Given the description of an element on the screen output the (x, y) to click on. 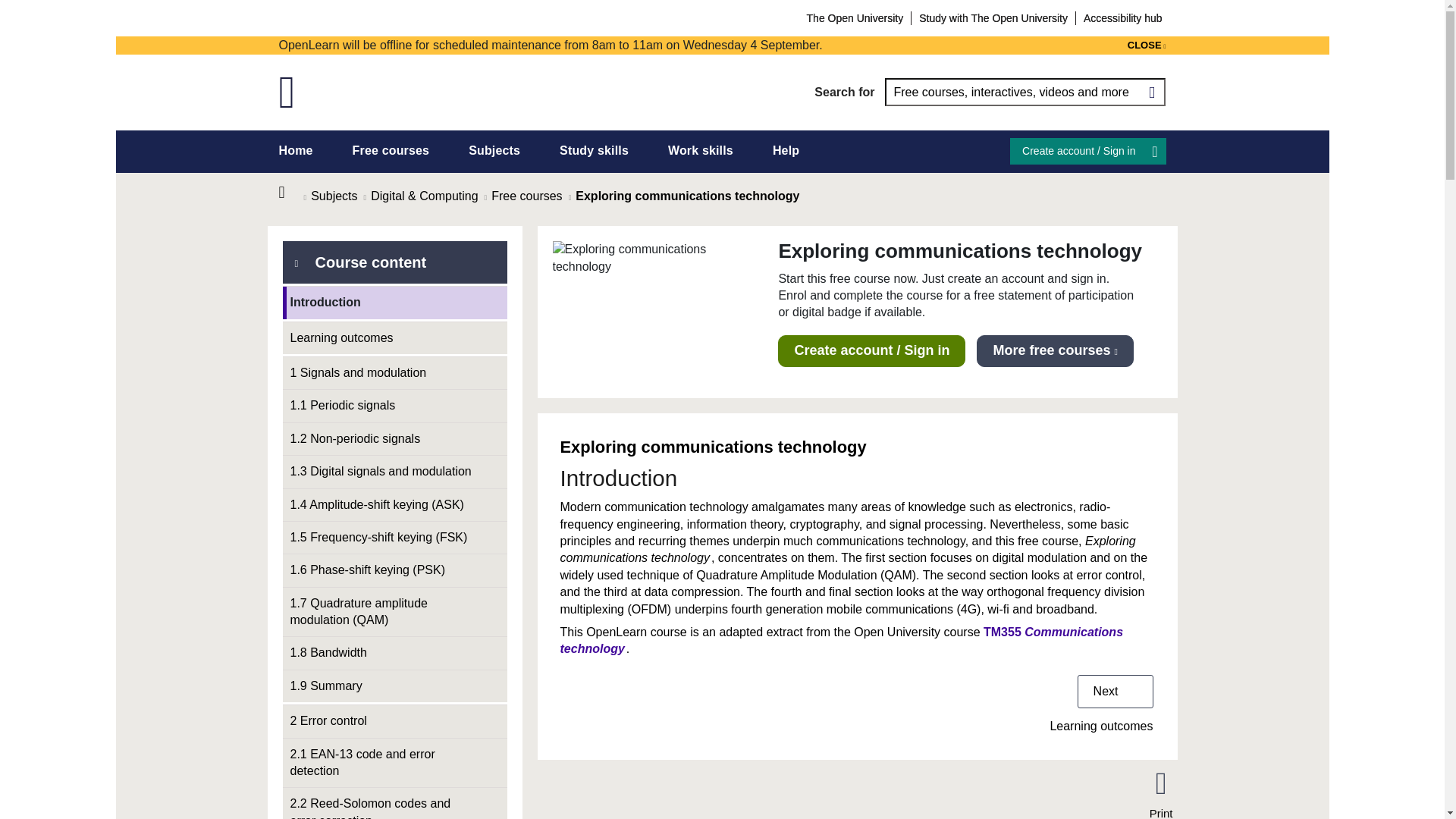
Study with The Open University (993, 17)
CLOSE (1146, 45)
Home (291, 193)
Accessibility hub (1123, 17)
Search (1151, 91)
Help (786, 150)
Free courses (390, 150)
Work skills (700, 150)
Study skills (593, 150)
The Open University (855, 17)
